Given the description of an element on the screen output the (x, y) to click on. 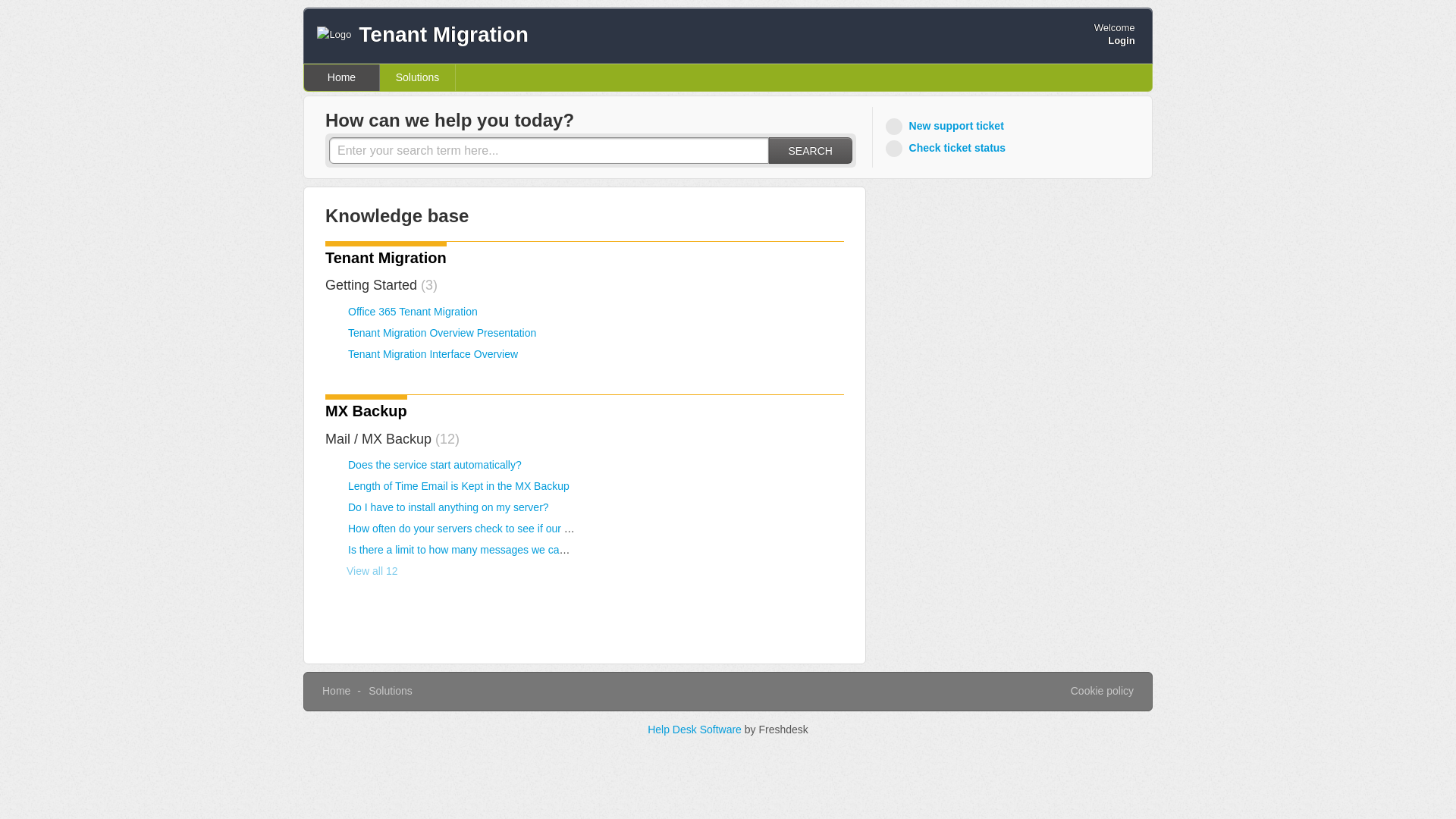
SEARCH (809, 150)
MX Backup (365, 410)
Office 365 Tenant Migration (412, 311)
Check ticket status (947, 147)
Tenant Migration Overview Presentation (441, 332)
Home (342, 77)
Getting Started 3 (381, 284)
View all 12 (360, 571)
New support ticket (946, 126)
Cookie policy (1102, 691)
New support ticket (946, 126)
Solutions (390, 690)
Tenant Migration Interface Overview (432, 354)
